Given the description of an element on the screen output the (x, y) to click on. 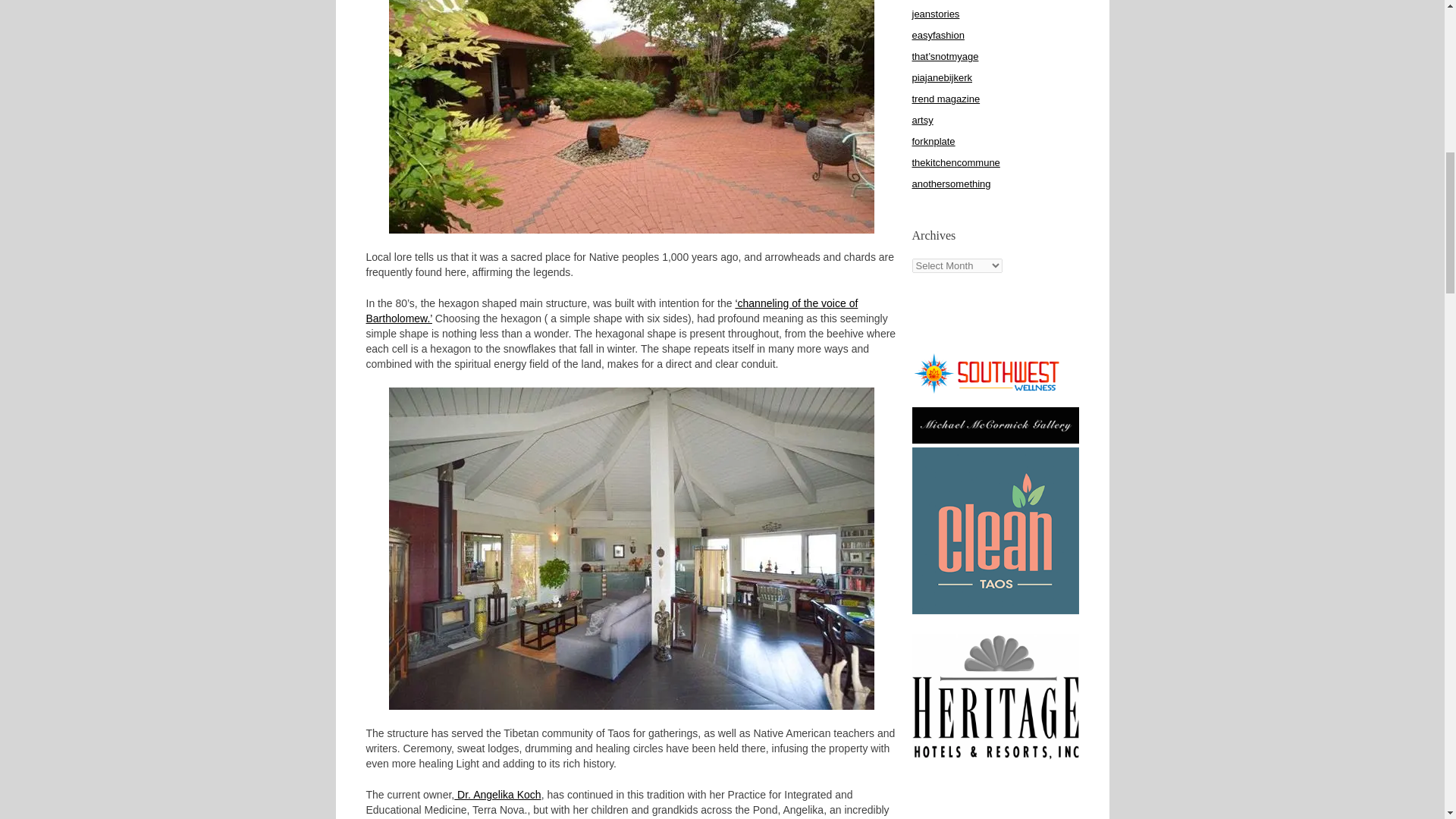
Dr. Angelika Koch (497, 794)
